Given the description of an element on the screen output the (x, y) to click on. 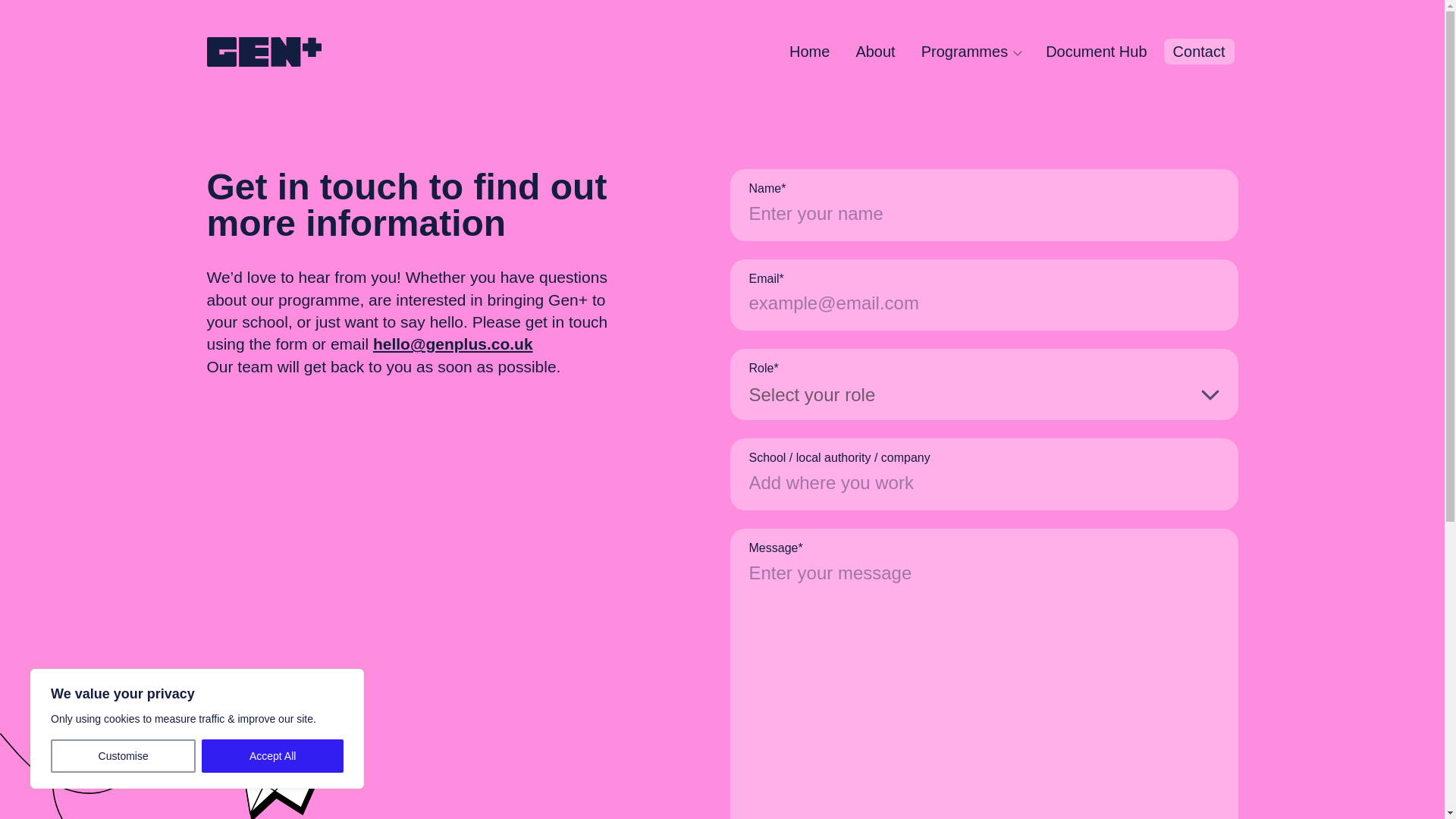
Accept All (272, 756)
Contact (1198, 51)
Home (809, 51)
Customise (122, 756)
Document Hub (1096, 51)
Programmes (970, 51)
About (874, 51)
